Given the description of an element on the screen output the (x, y) to click on. 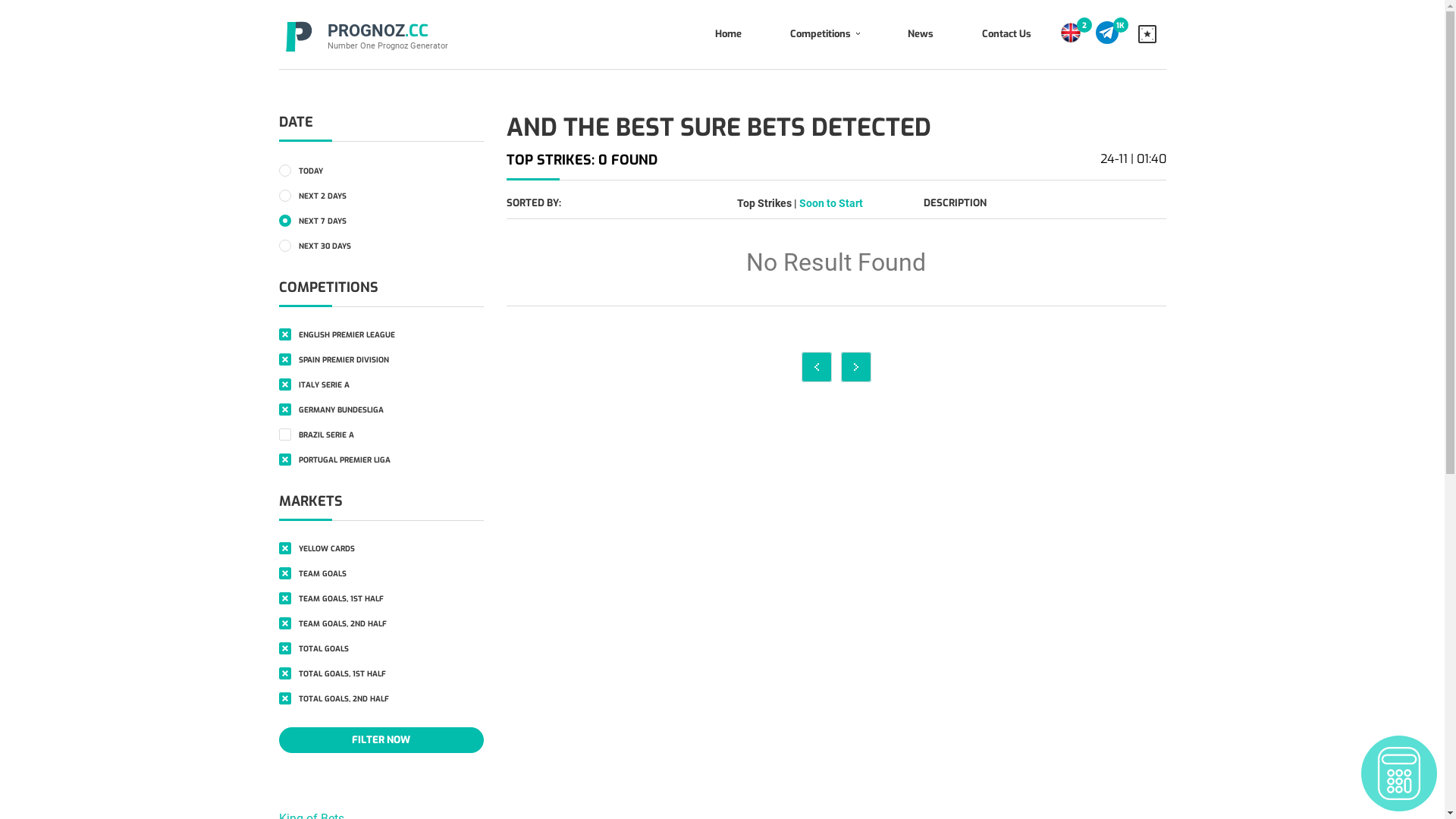
NEXT 30 DAYS Element type: text (381, 245)
TODAY Element type: text (381, 169)
Contact Us Element type: text (1005, 34)
NEXT 7 DAYS Element type: text (381, 219)
FILTER NOW Element type: text (381, 740)
NEXT 2 DAYS Element type: text (381, 194)
Home Element type: text (727, 34)
2 Element type: text (1084, 24)
Soon to Start Element type: text (830, 203)
Competitions Element type: text (824, 34)
News Element type: text (919, 34)
